Given the description of an element on the screen output the (x, y) to click on. 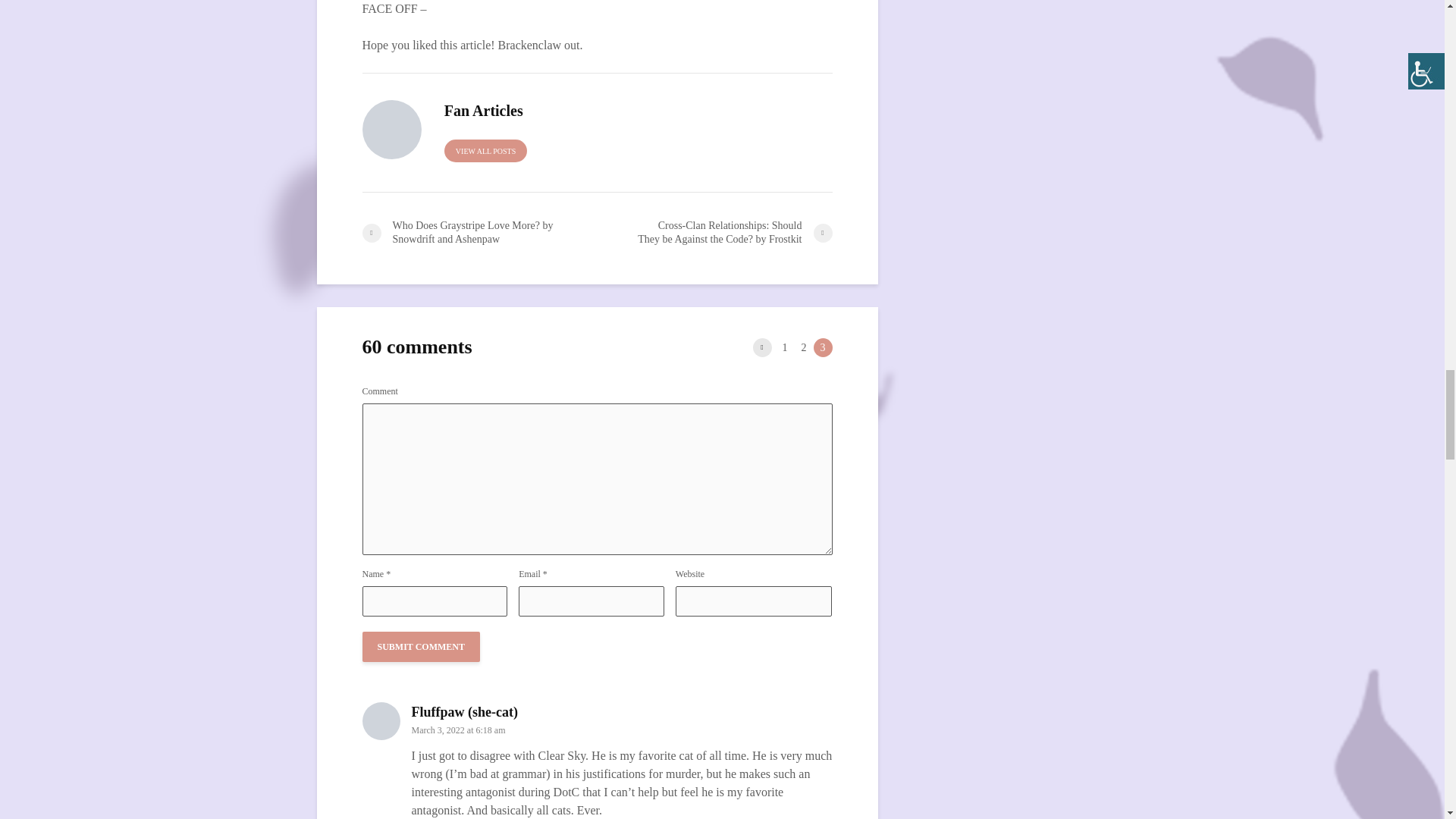
Submit Comment (421, 646)
